Given the description of an element on the screen output the (x, y) to click on. 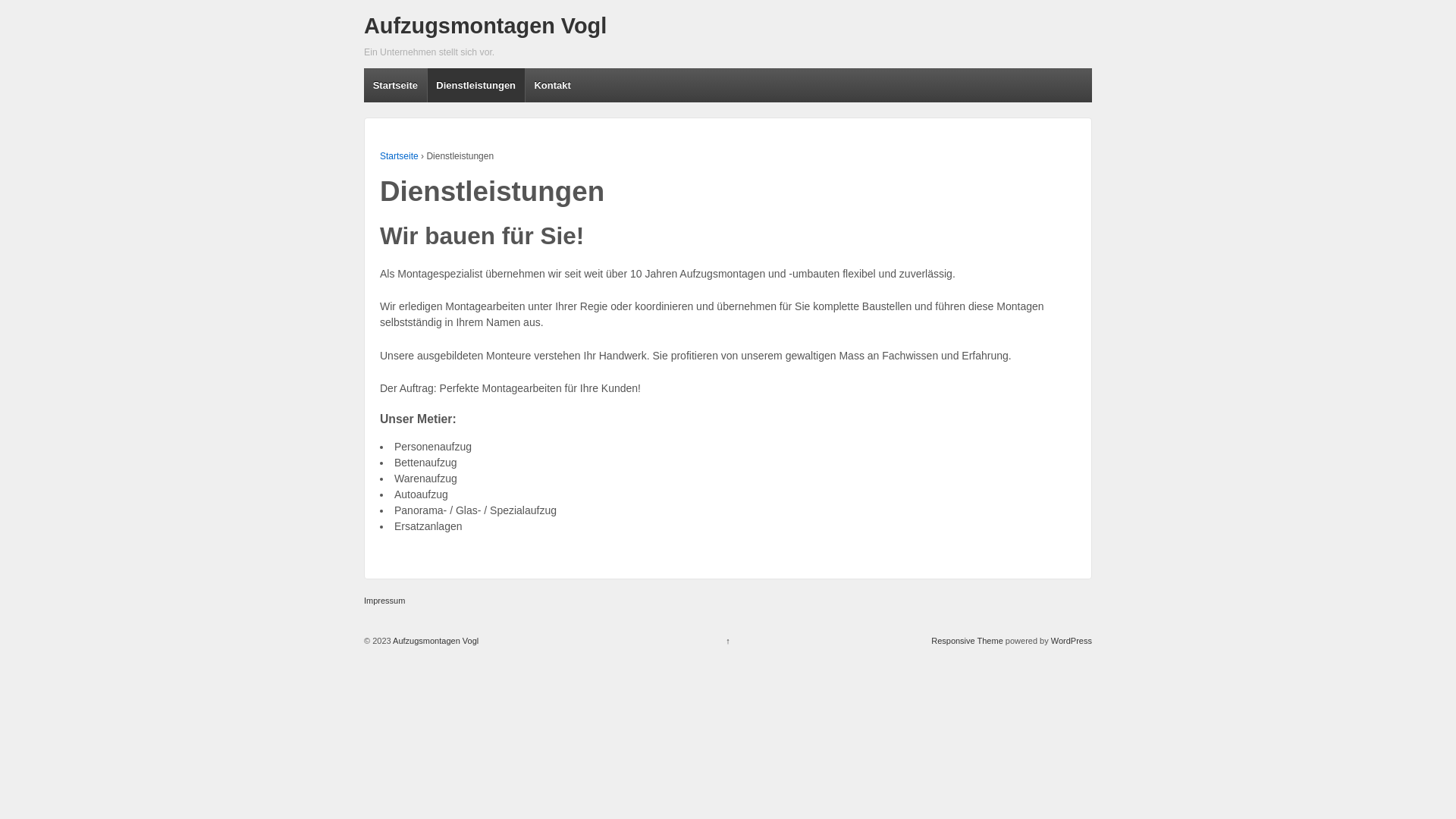
Kontakt Element type: text (552, 85)
Startseite Element type: text (395, 85)
WordPress Element type: text (1071, 640)
Aufzugsmontagen Vogl Element type: text (485, 25)
Impressum Element type: text (387, 600)
Responsive Theme Element type: text (967, 640)
Aufzugsmontagen Vogl Element type: text (435, 640)
Dienstleistungen Element type: text (475, 85)
Startseite Element type: text (398, 155)
